Given the description of an element on the screen output the (x, y) to click on. 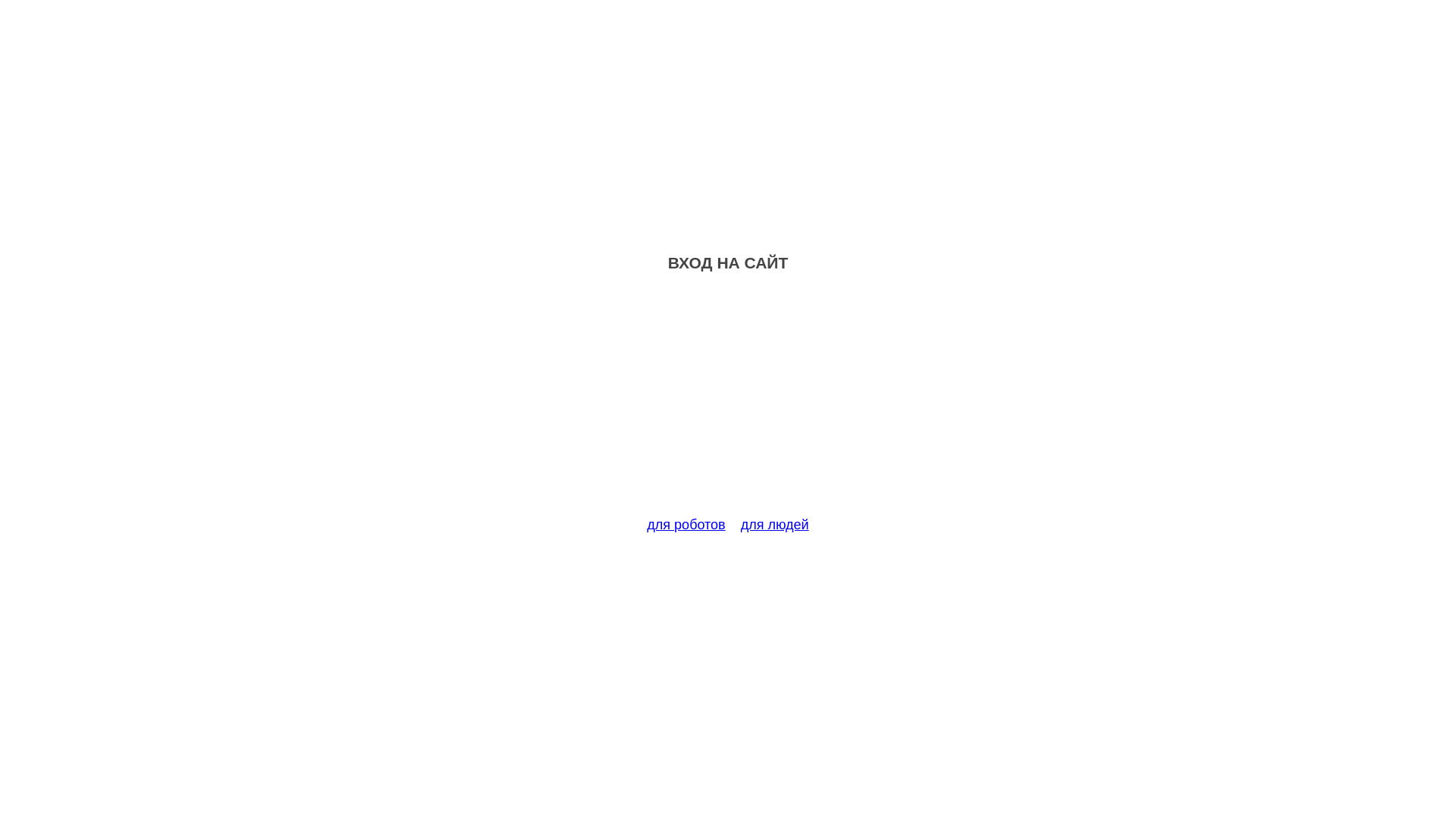
Advertisement Element type: hover (727, 403)
